Given the description of an element on the screen output the (x, y) to click on. 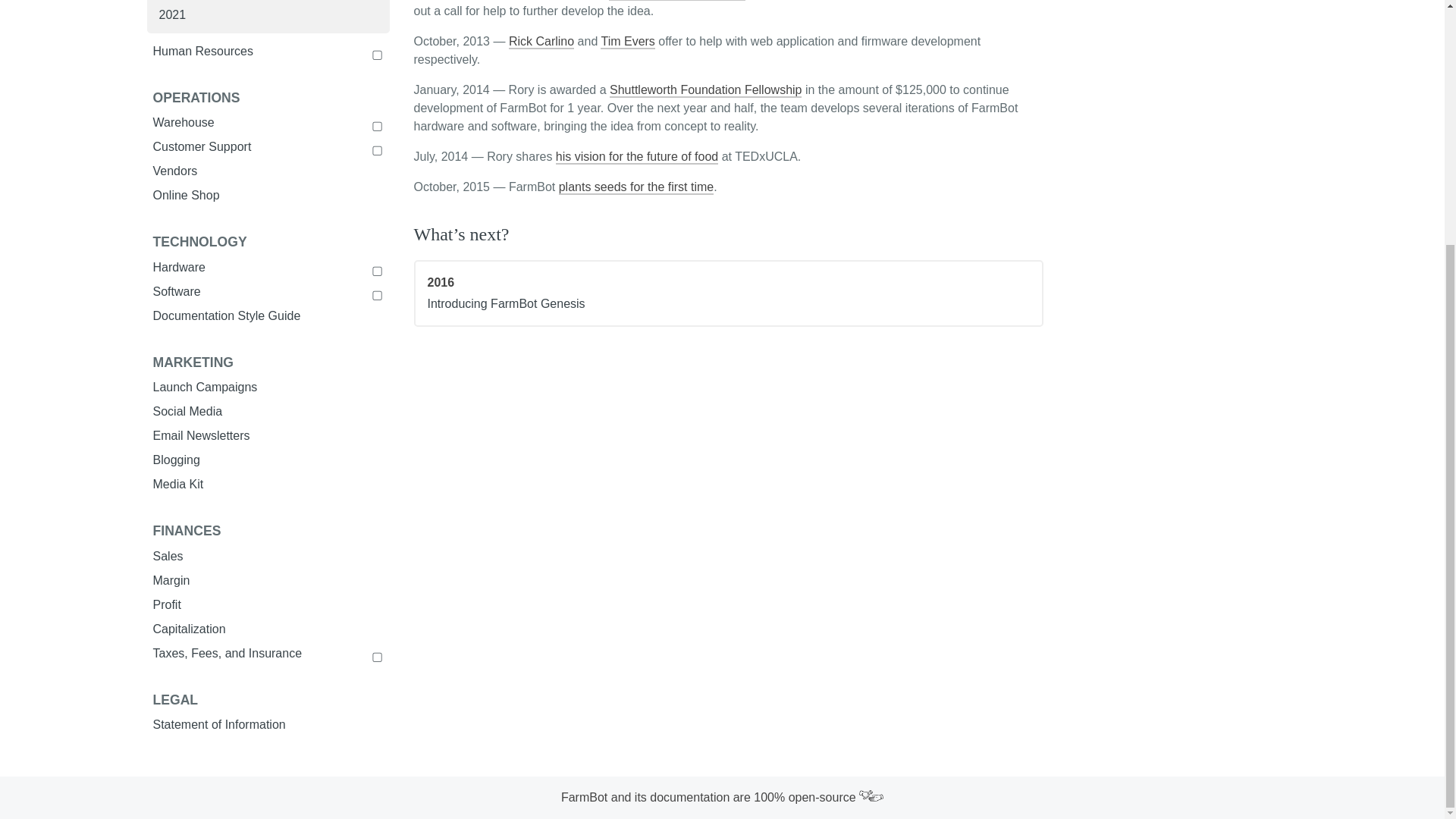
Customer Support (268, 146)
Warehouse (268, 122)
2021 (268, 15)
2020 (268, 1)
Human Resources (268, 51)
Vendors (268, 170)
